Given the description of an element on the screen output the (x, y) to click on. 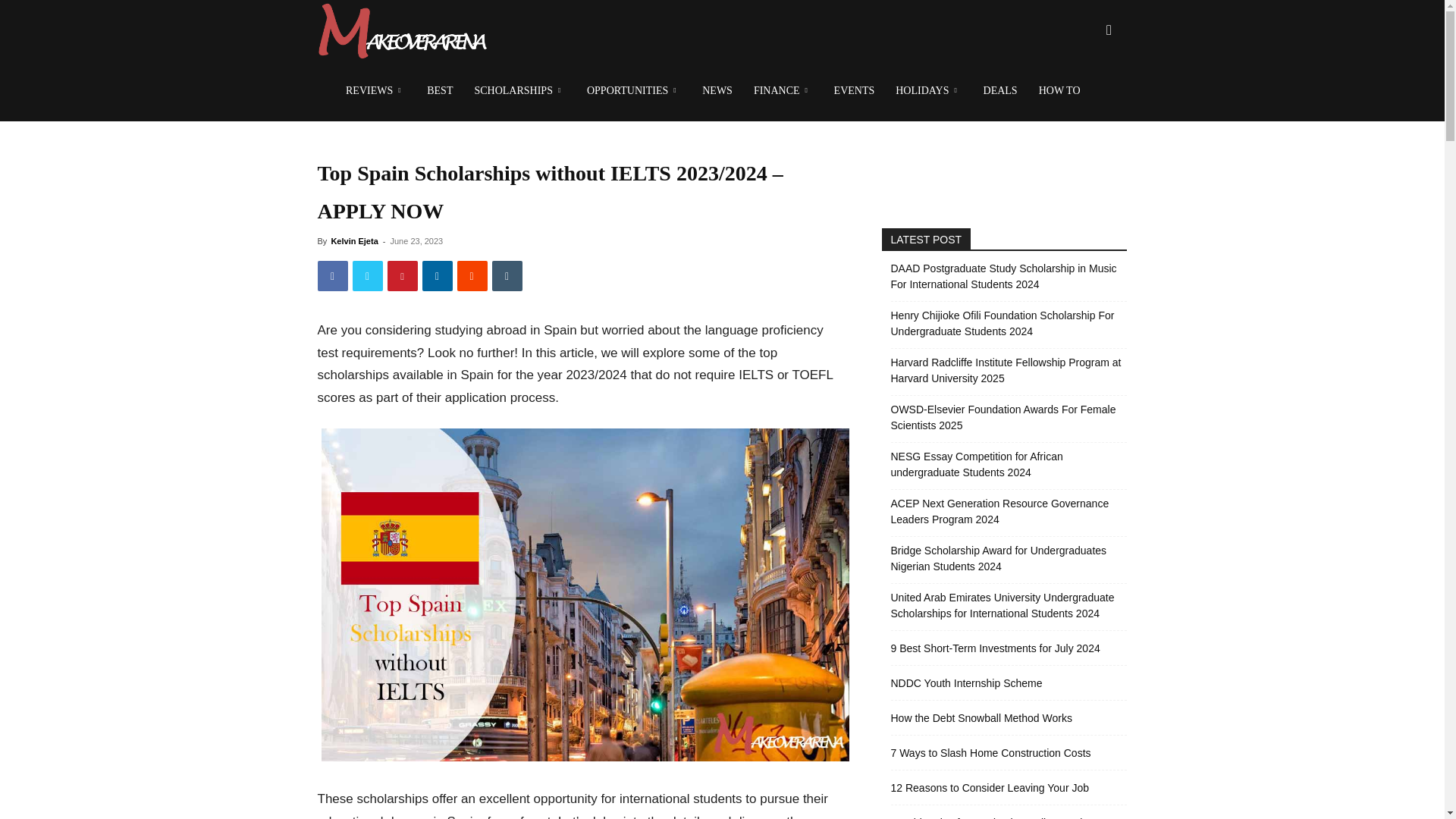
Twitter (366, 276)
Linkedin (436, 276)
ReddIt (471, 276)
Facebook (332, 276)
Pinterest (401, 276)
Tumblr (506, 276)
